Given the description of an element on the screen output the (x, y) to click on. 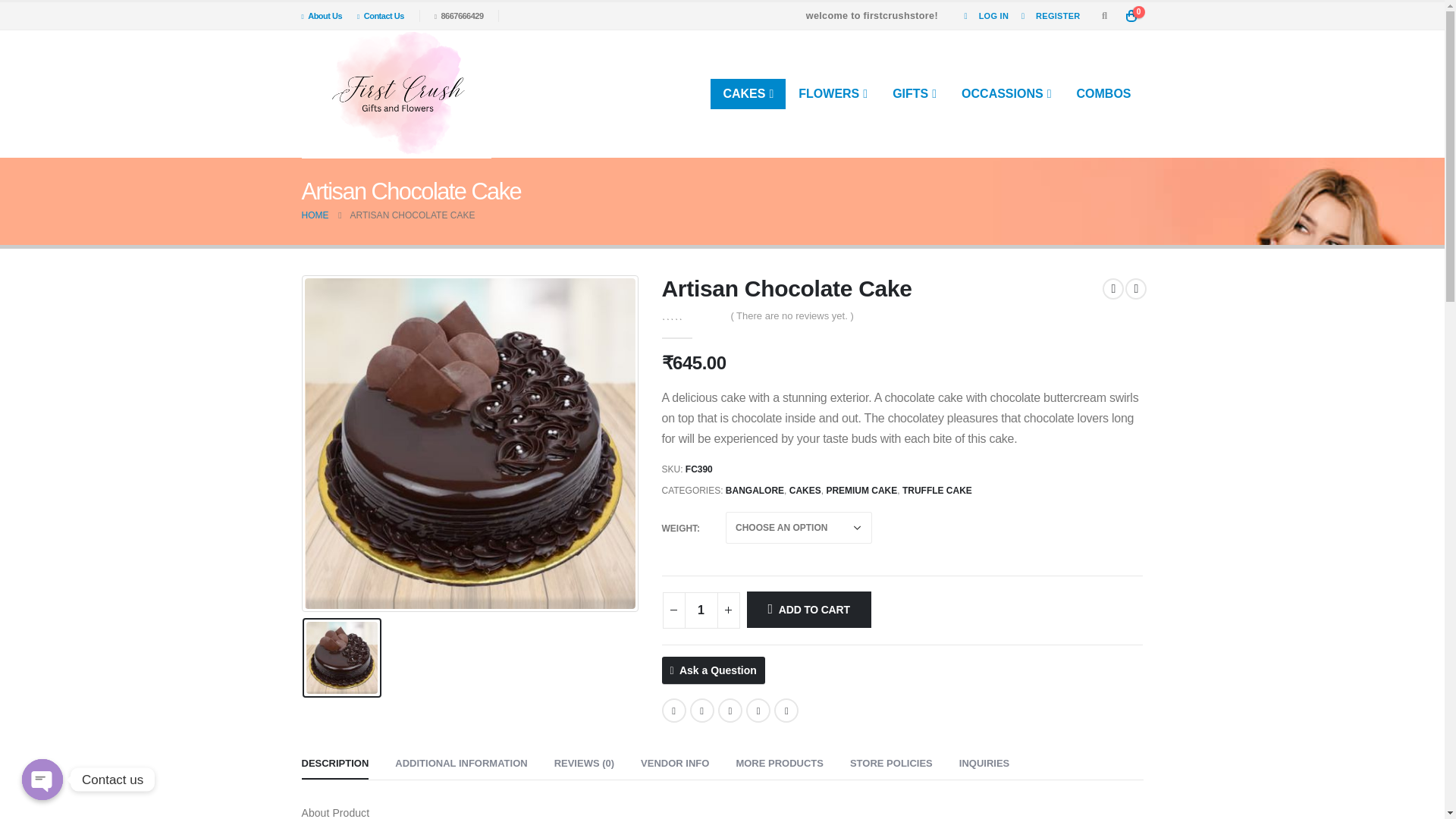
Qty (700, 610)
1 (700, 610)
Go to Home Page (315, 215)
Contact Us (380, 15)
REGISTER (1047, 15)
About Us (325, 15)
CAKES (748, 93)
LOG IN (983, 15)
Artisan Chocolate Cake 1 (469, 443)
First Crush Store -  (396, 94)
